Given the description of an element on the screen output the (x, y) to click on. 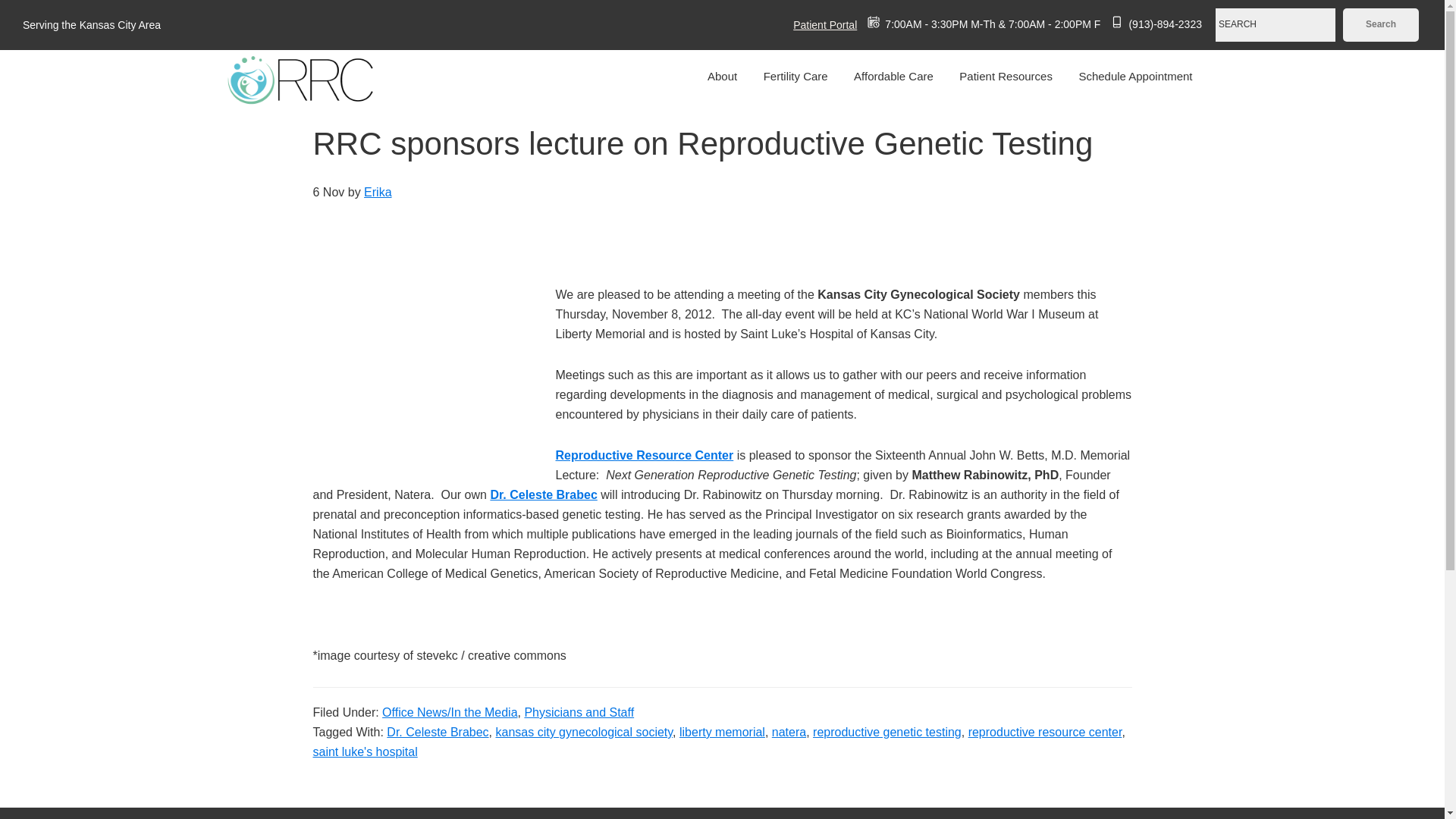
About (721, 75)
Fertility Care (796, 75)
Affordable Care (893, 75)
Patient Portal (816, 24)
Search (1380, 24)
Patient Resources (1005, 75)
